Given the description of an element on the screen output the (x, y) to click on. 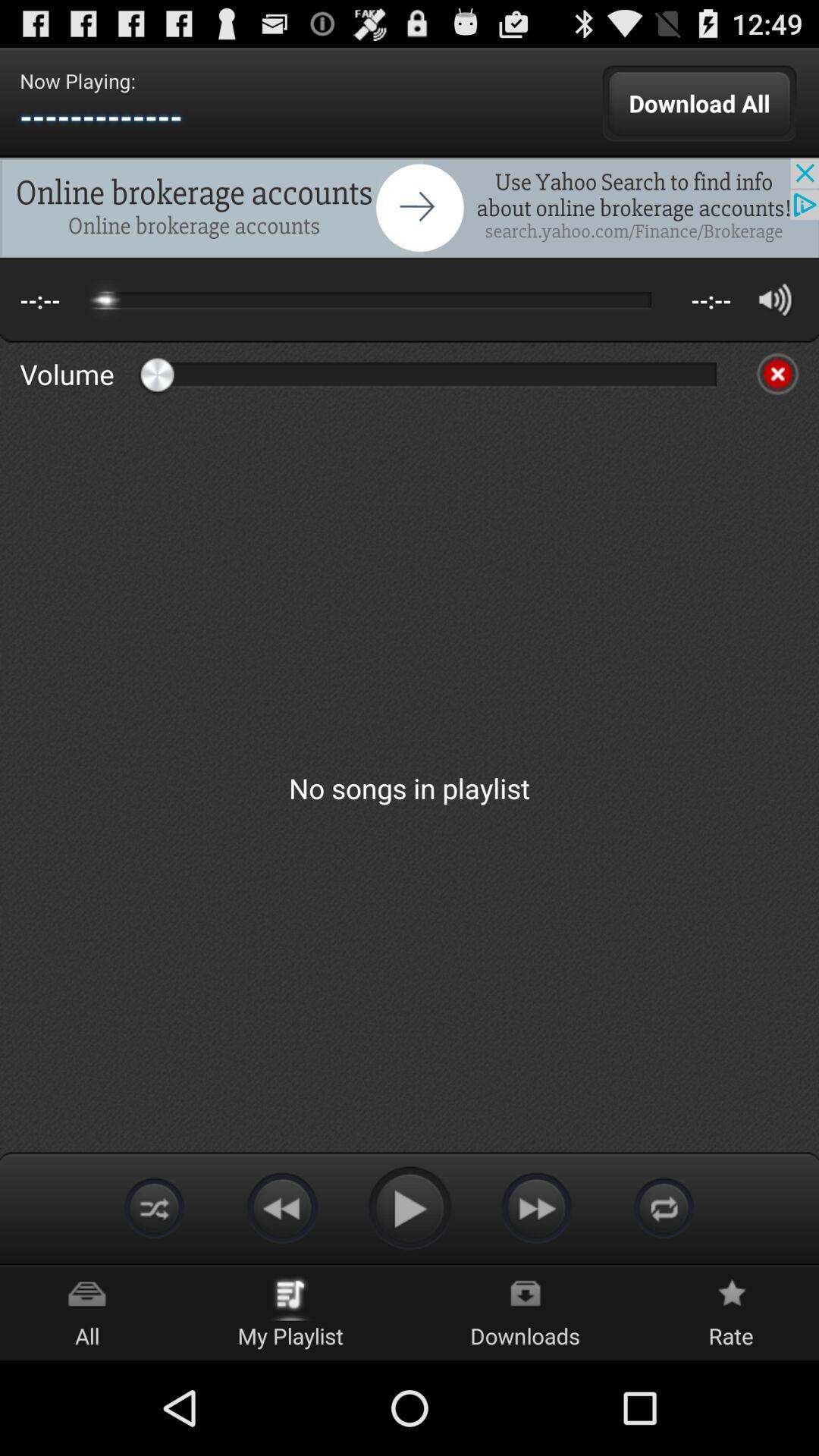
fast forward (536, 1207)
